Given the description of an element on the screen output the (x, y) to click on. 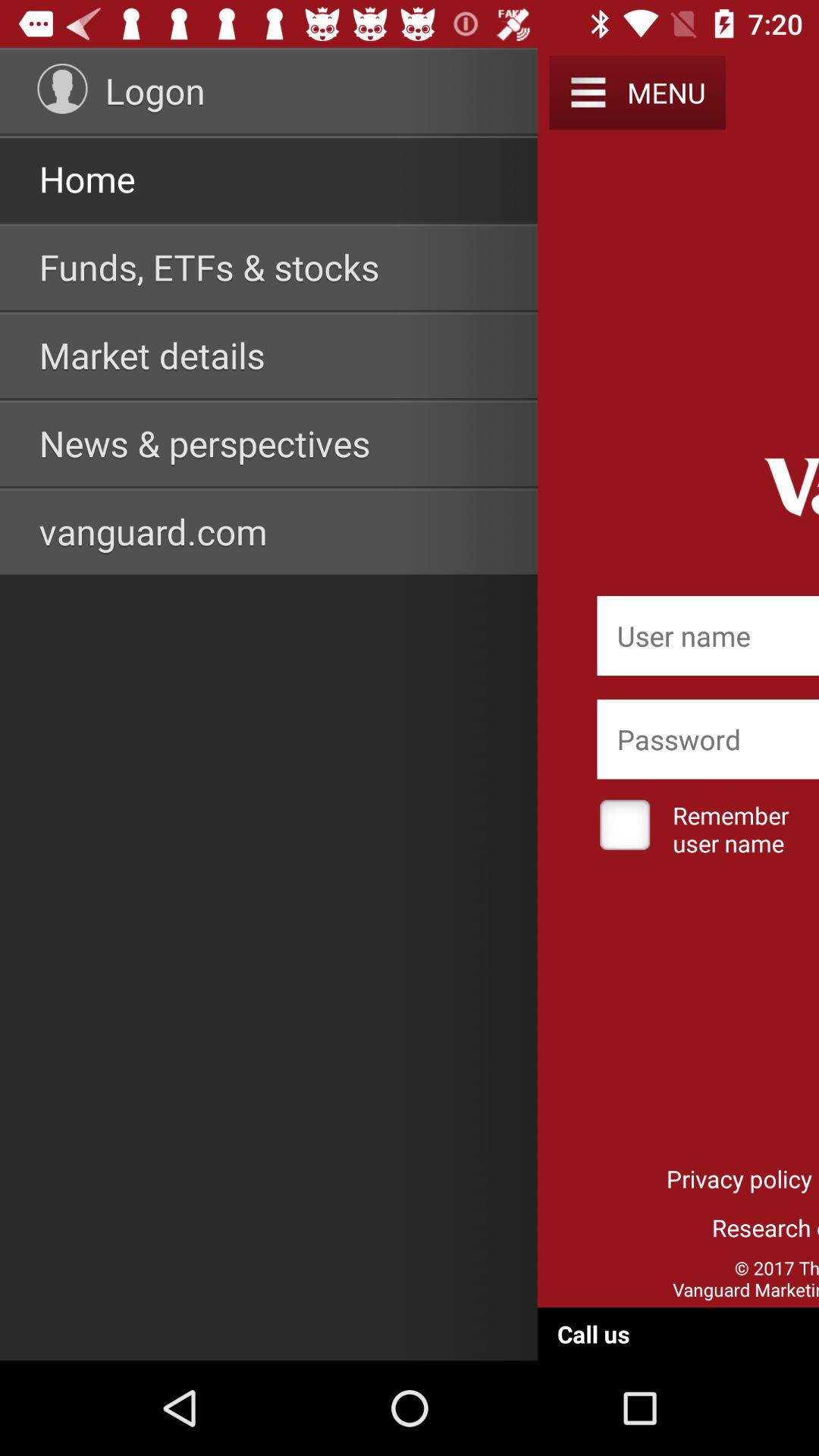
turn off icon next to logon icon (62, 88)
